Given the description of an element on the screen output the (x, y) to click on. 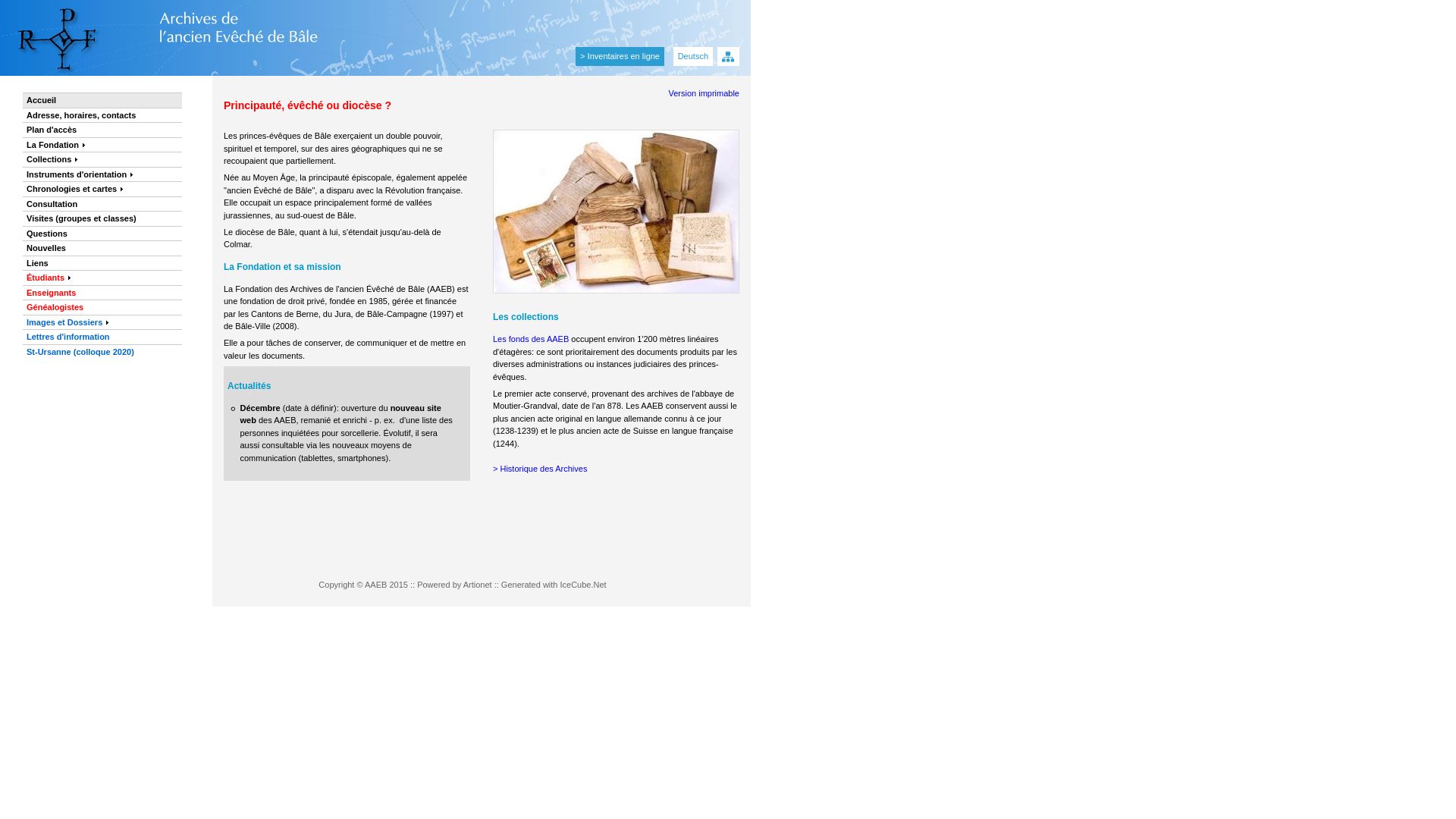
Collections Element type: text (102, 158)
Consultation Element type: text (102, 202)
Visites (groupes et classes) Element type: text (102, 217)
Accueil Element type: text (102, 99)
Plan du site Element type: text (728, 56)
La Fondation Element type: text (102, 143)
Instruments d'orientation Element type: text (102, 174)
Chronologies et cartes Element type: text (102, 188)
Historique des Archives Element type: text (542, 468)
St-Ursanne (colloque 2020) Element type: text (102, 351)
Deutsch Element type: text (692, 56)
Nouvelles Element type: text (102, 247)
Adresse, horaires, contacts Element type: text (102, 114)
Version imprimable Element type: text (703, 93)
Questions Element type: text (102, 233)
Generated with IceCube.Net Element type: text (553, 584)
Lettres d'information Element type: text (102, 336)
Liens Element type: text (102, 261)
Enseignants Element type: text (102, 292)
Les fonds des AAEB Element type: text (530, 338)
Images et Dossiers Element type: text (102, 321)
> Inventaires en ligne Element type: text (619, 56)
Powered by Artionet Element type: text (454, 584)
